Given the description of an element on the screen output the (x, y) to click on. 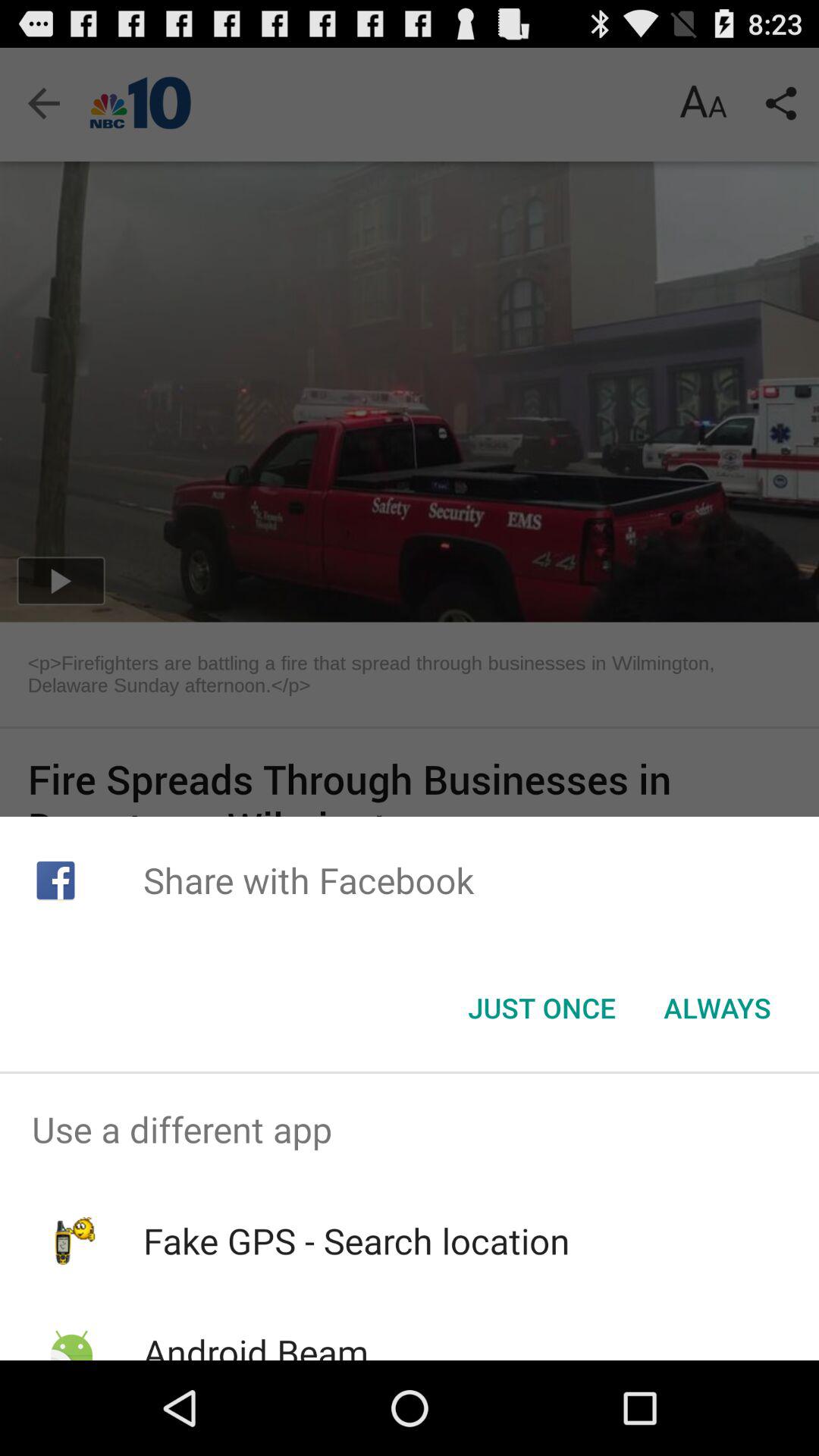
select the always at the bottom right corner (717, 1007)
